Given the description of an element on the screen output the (x, y) to click on. 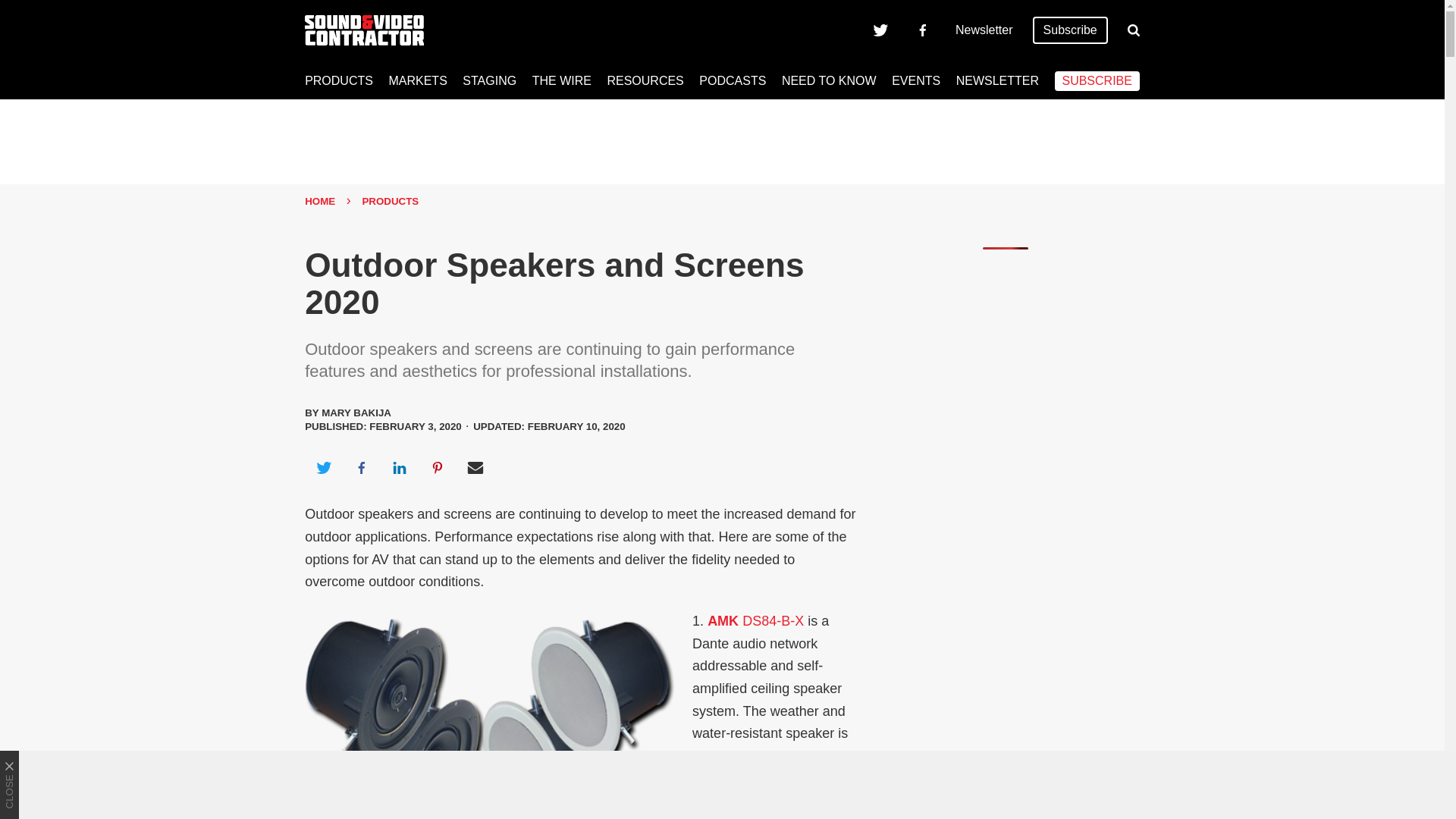
Share on Twitter (323, 467)
Share via Email (476, 467)
Share on Pinterest (438, 467)
Share on LinkedIn (399, 467)
Share on Facebook (361, 467)
